Given the description of an element on the screen output the (x, y) to click on. 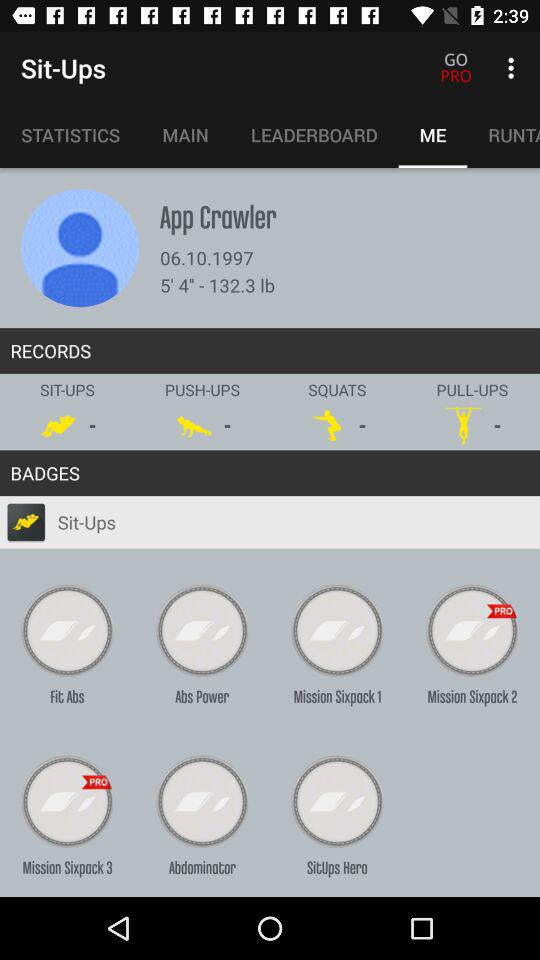
edit profile picture (80, 248)
